Given the description of an element on the screen output the (x, y) to click on. 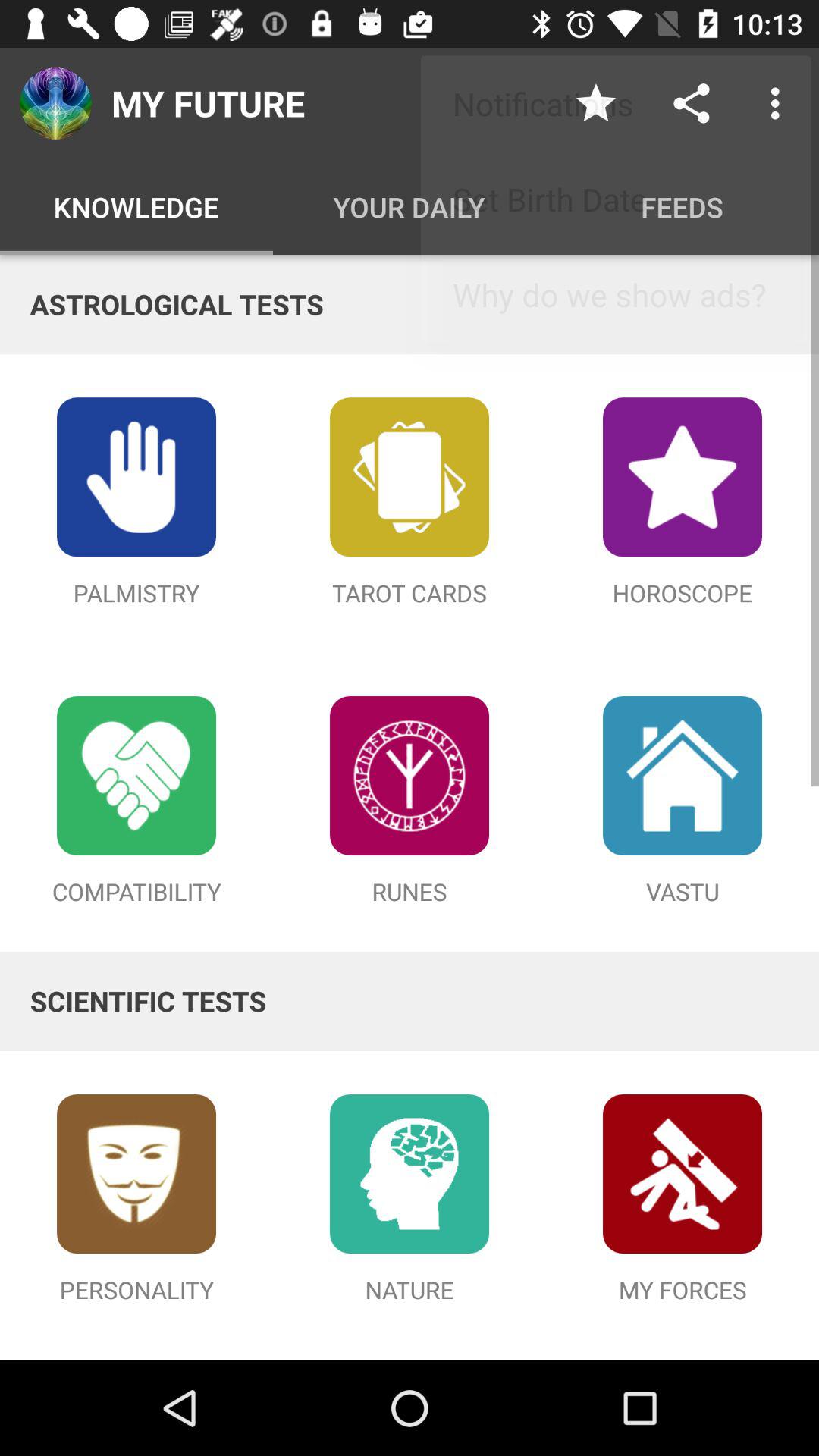
select the icon to the right of the my future icon (595, 103)
